Given the description of an element on the screen output the (x, y) to click on. 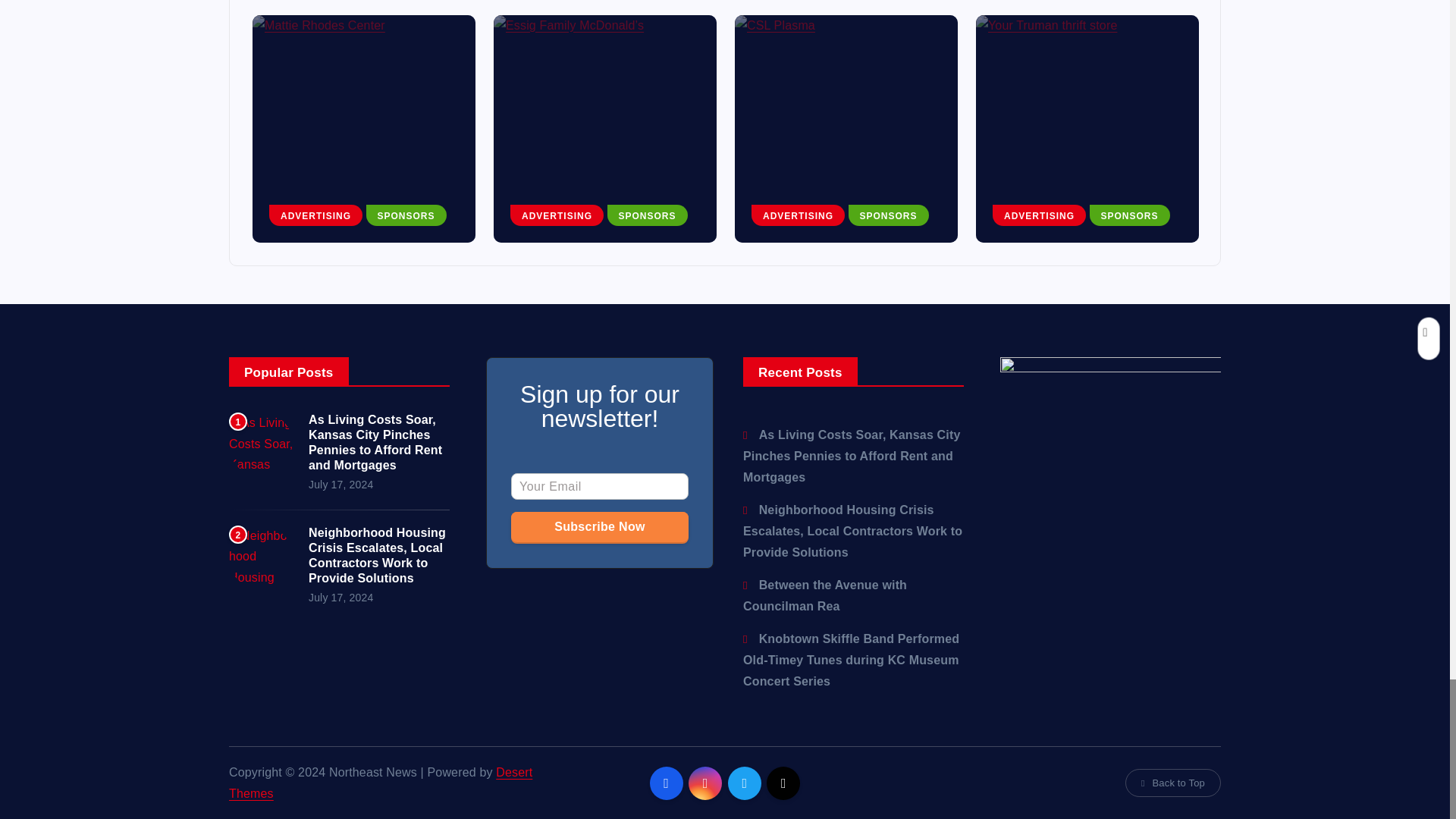
Subscribe Now (599, 526)
